Given the description of an element on the screen output the (x, y) to click on. 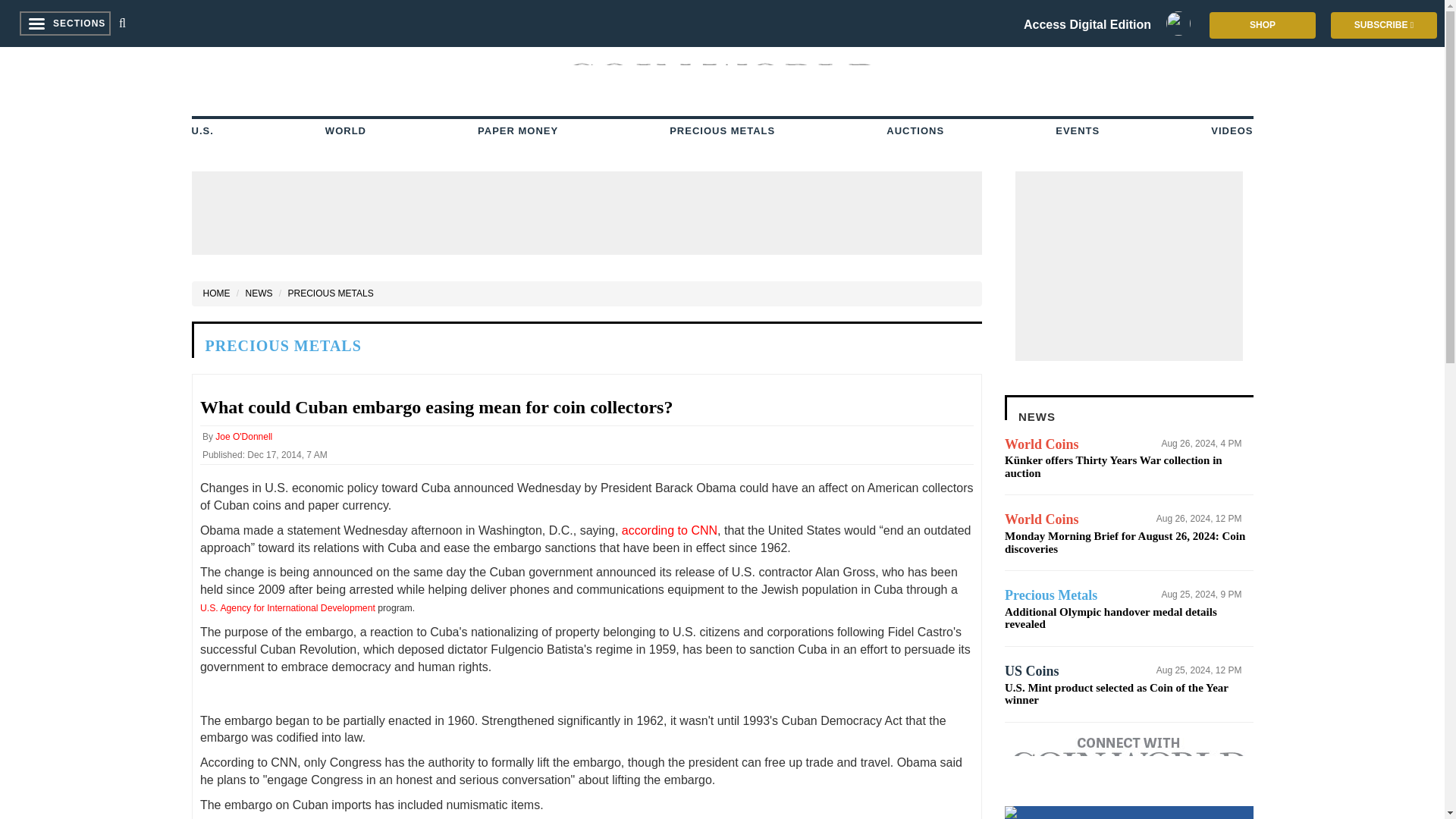
SUBSCRIBE (1383, 25)
SECTIONS (57, 23)
Access Digital Edition (1087, 26)
SHOP (1262, 25)
